Given the description of an element on the screen output the (x, y) to click on. 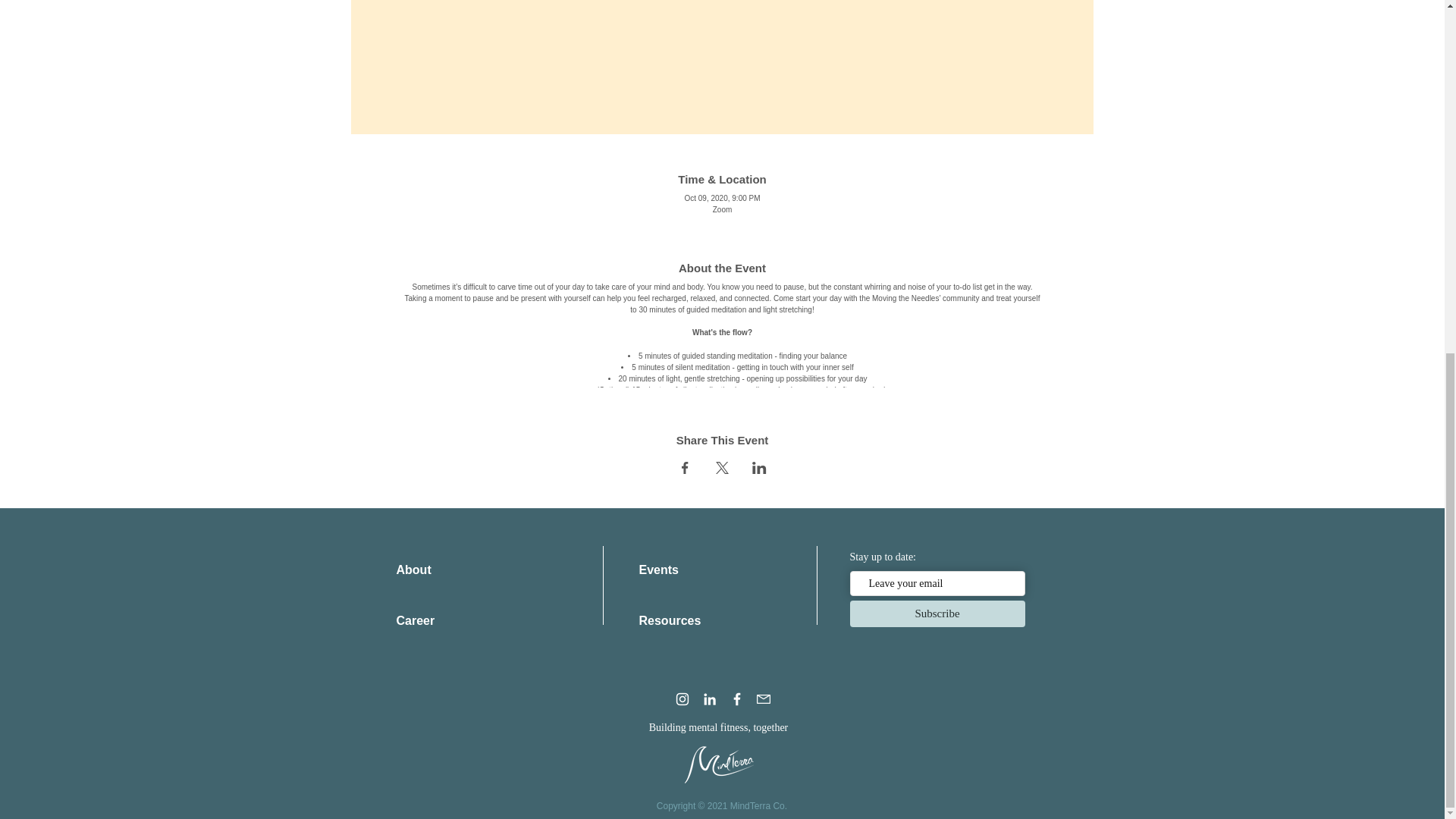
About (413, 569)
Events (658, 569)
Subscribe (936, 613)
Career (414, 620)
Resources (669, 620)
